Given the description of an element on the screen output the (x, y) to click on. 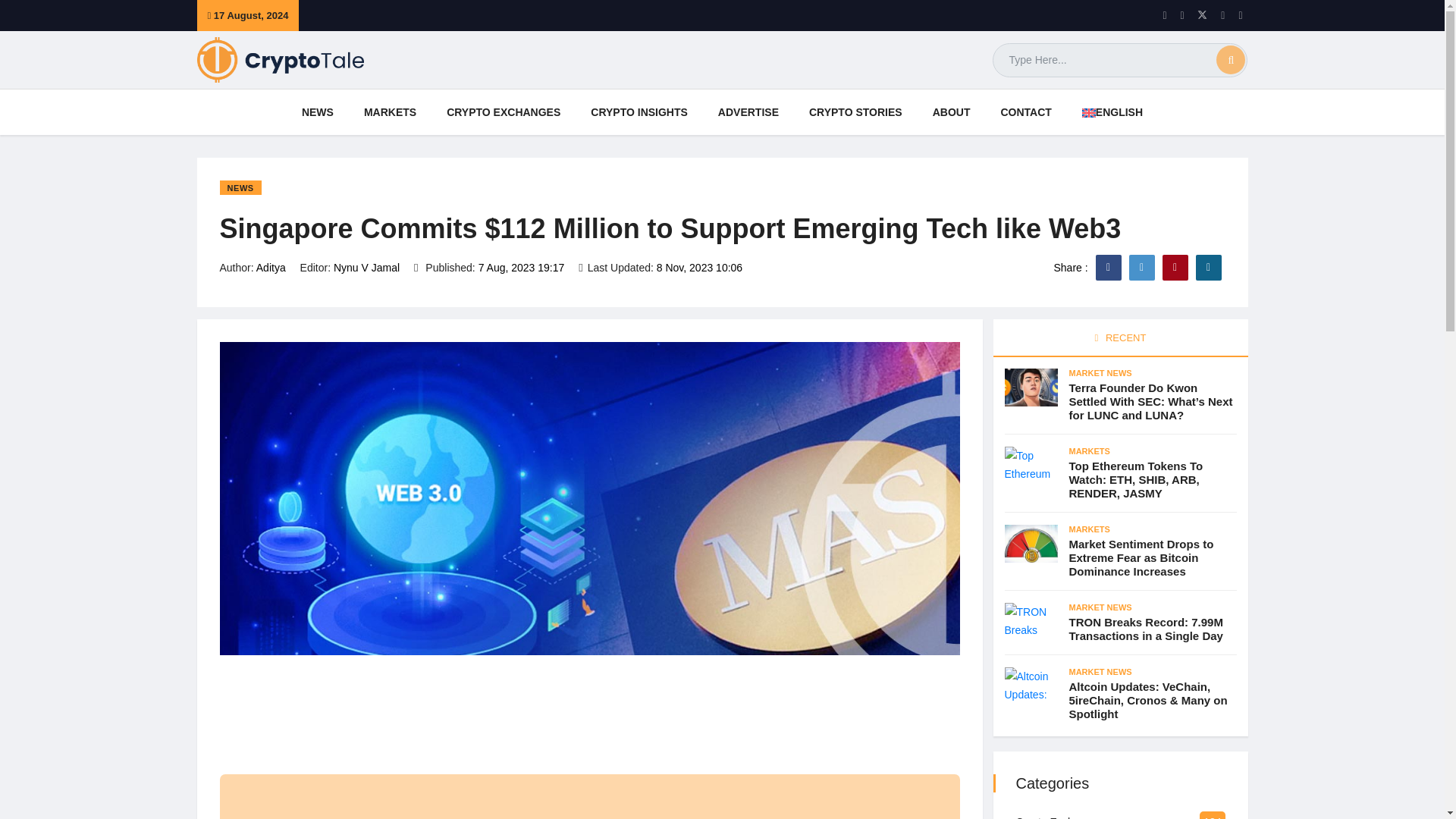
MARKETS (389, 112)
ABOUT (951, 112)
CRYPTO EXCHANGES (503, 112)
CRYPTO STORIES (856, 112)
CONTACT (1025, 112)
ADVERTISE (748, 112)
CRYPTO INSIGHTS (639, 112)
NEWS (317, 112)
ENGLISH (1112, 112)
